Given the description of an element on the screen output the (x, y) to click on. 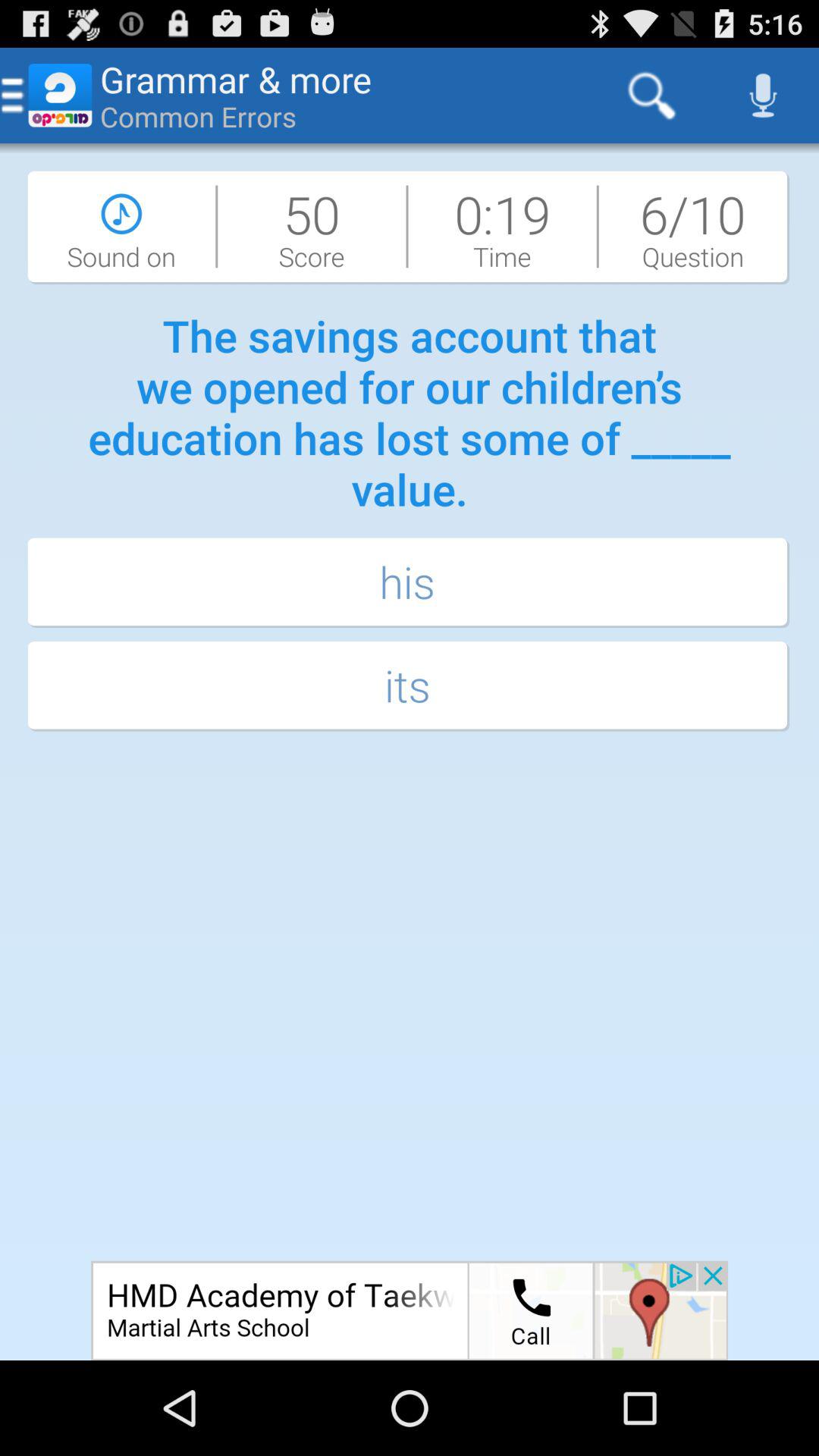
turn off his icon (409, 583)
